Given the description of an element on the screen output the (x, y) to click on. 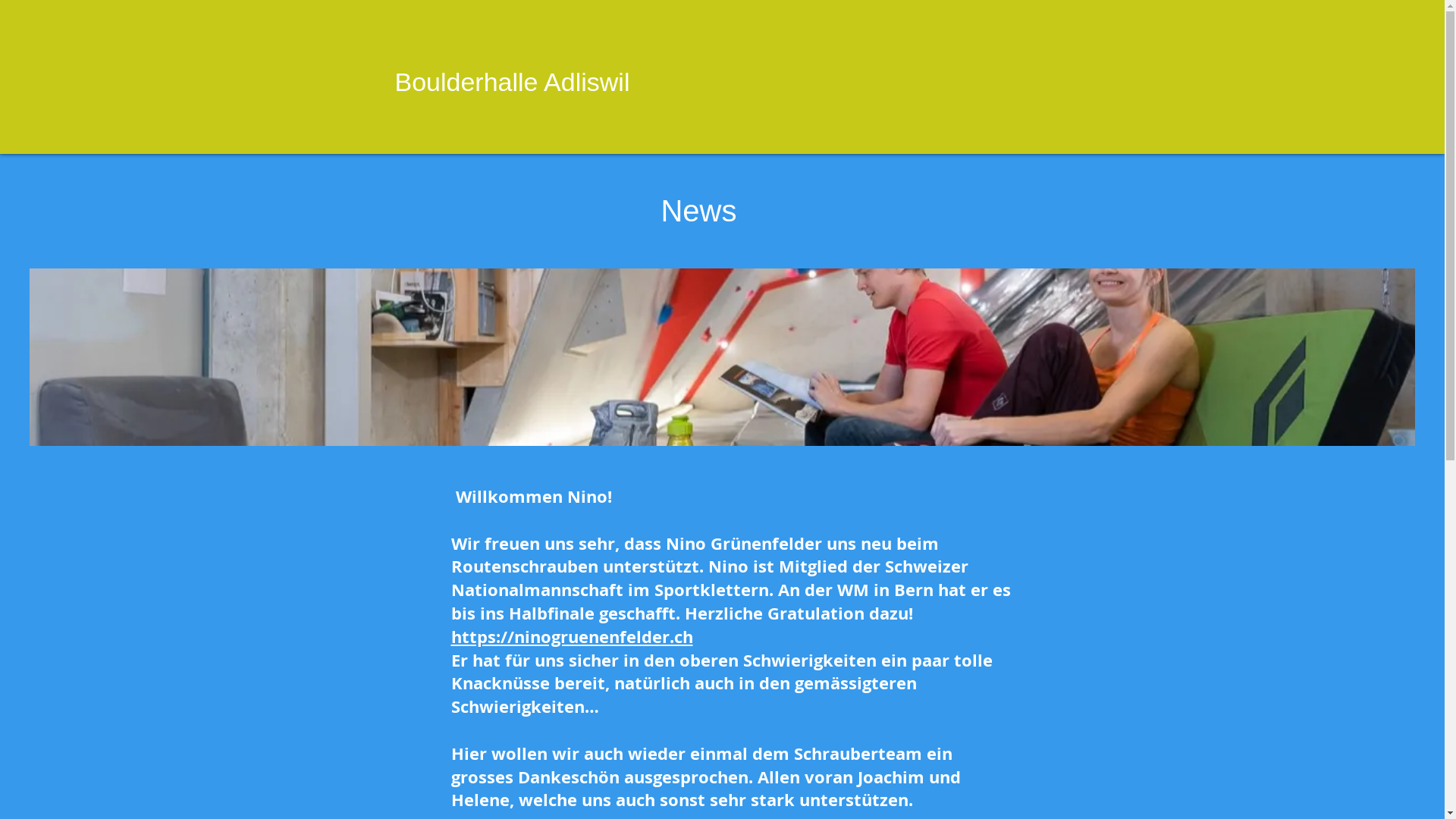
https://ninogruenenfelder.ch Element type: text (571, 636)
